Given the description of an element on the screen output the (x, y) to click on. 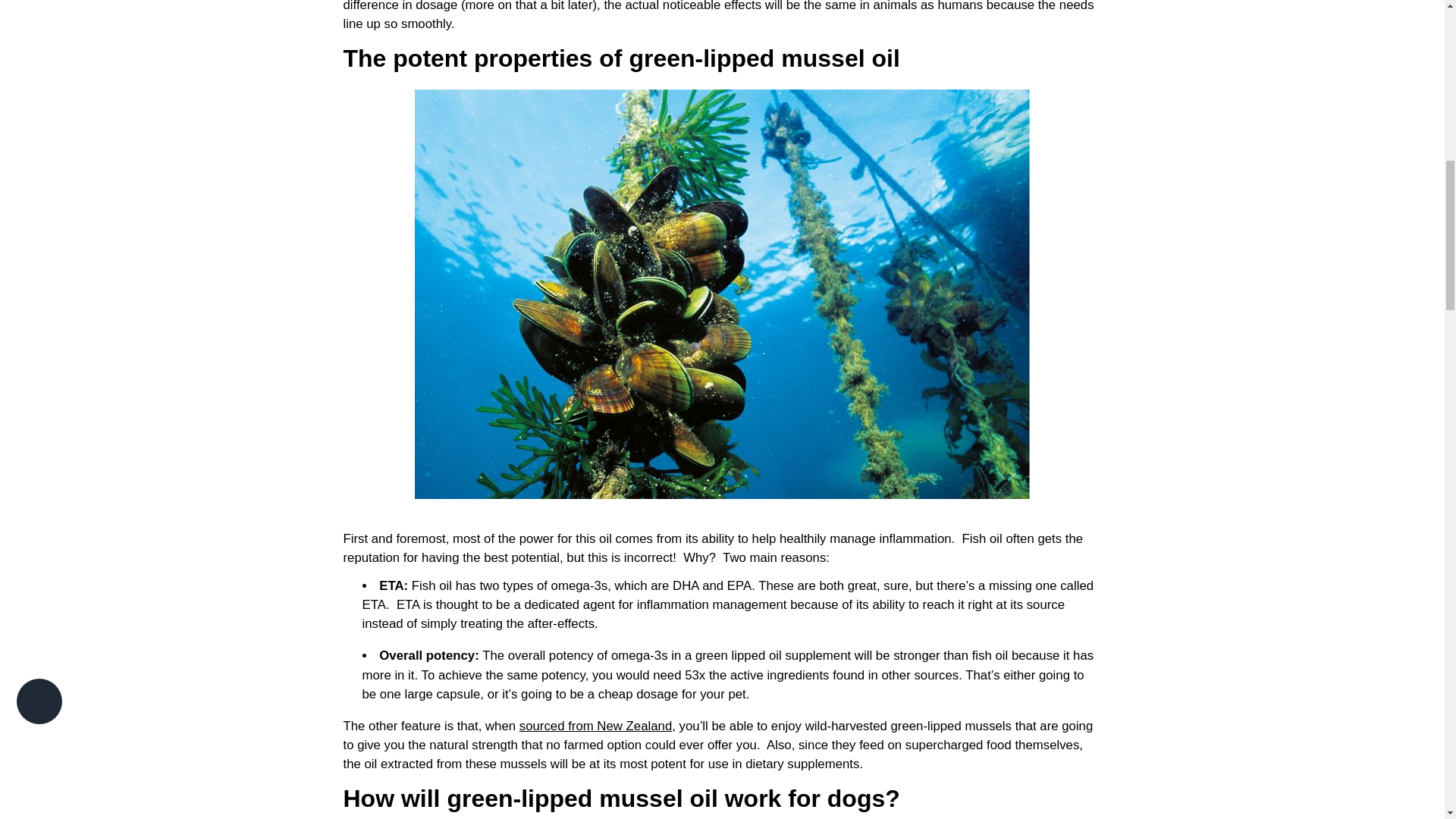
Omega-3 (579, 585)
Source (595, 726)
